Given the description of an element on the screen output the (x, y) to click on. 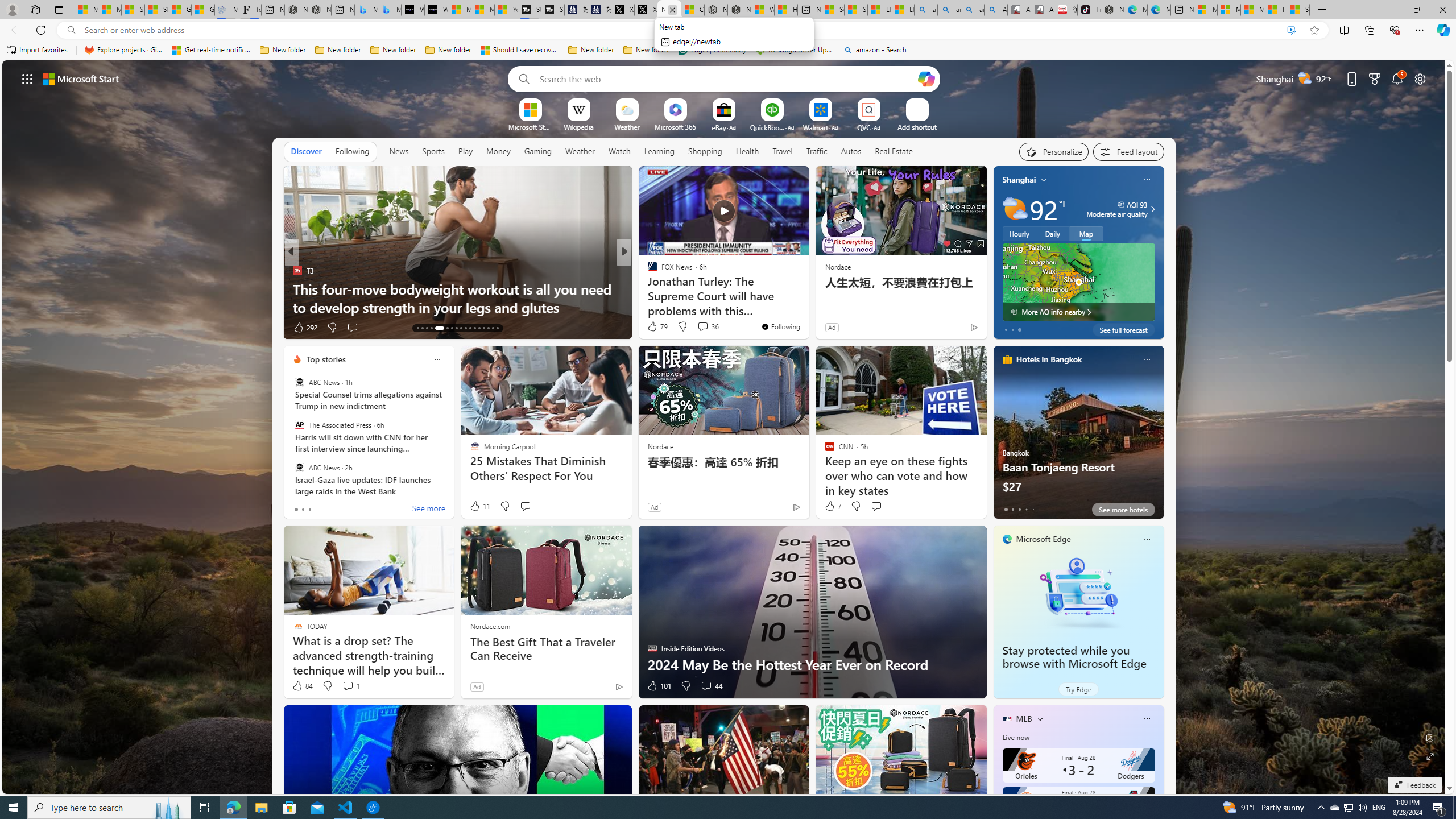
aqi-icon (1121, 204)
Nordace - Best Sellers (1112, 9)
tab-2 (1019, 509)
Start the conversation (876, 505)
Shanghai, China weather forecast | Microsoft Weather (156, 9)
You're following FOX News (780, 326)
Traffic (816, 151)
TechRadar (647, 270)
AutomationID: tab-13 (417, 328)
Liron Segev (647, 288)
Travel (782, 151)
Notifications (1397, 78)
